Given the description of an element on the screen output the (x, y) to click on. 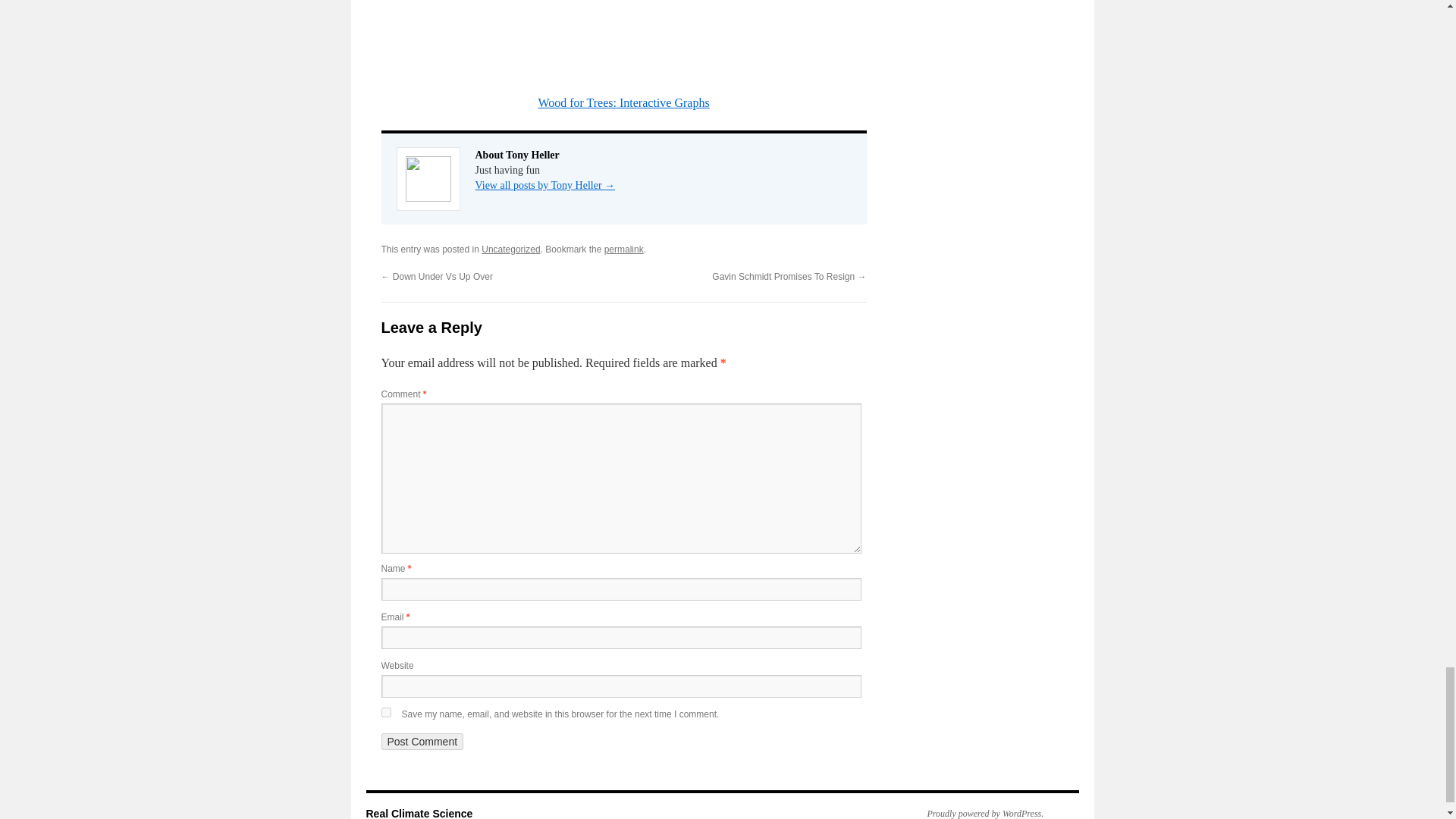
yes (385, 712)
Post Comment (421, 741)
